Given the description of an element on the screen output the (x, y) to click on. 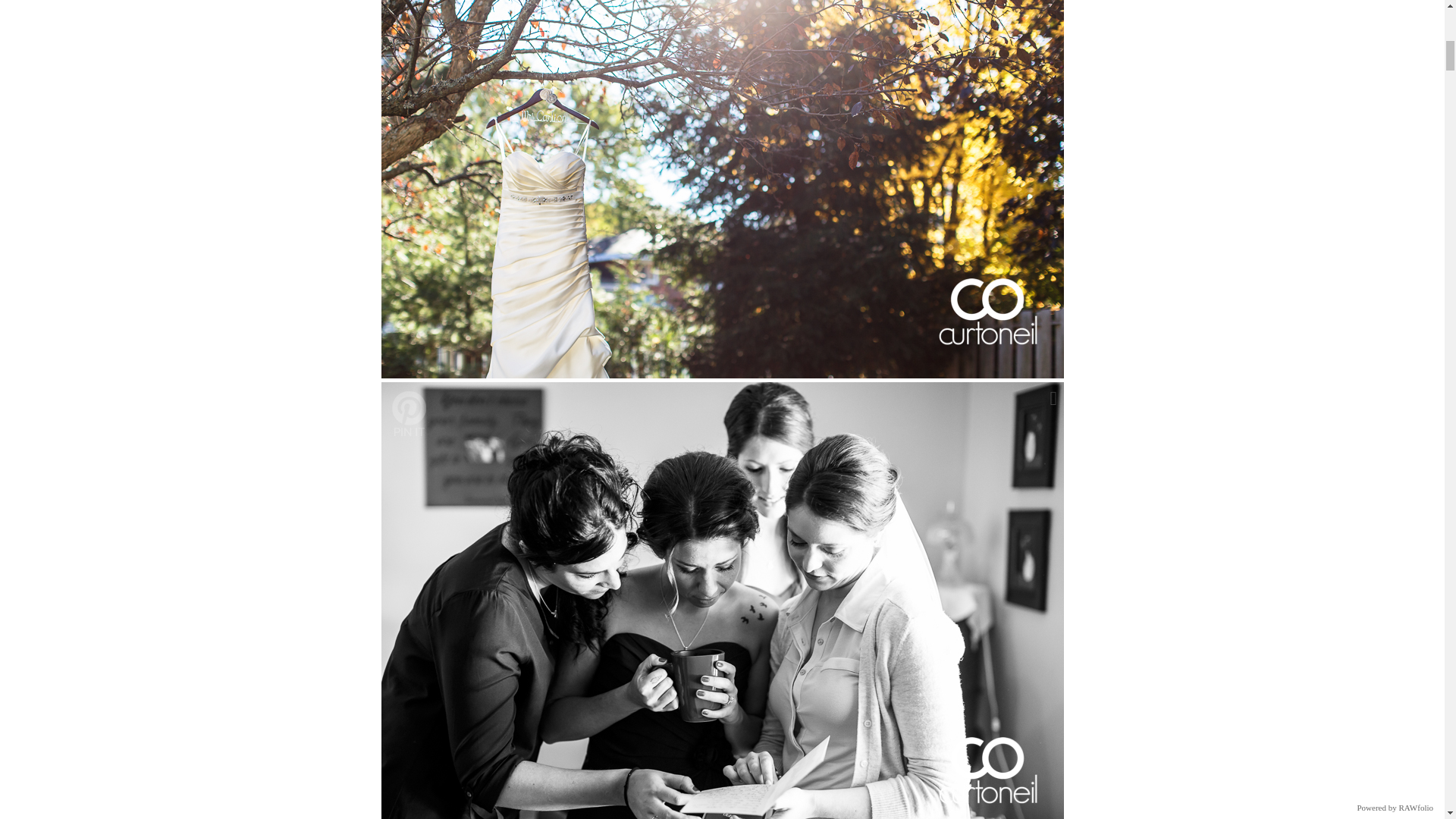
Like this image (1053, 398)
